Given the description of an element on the screen output the (x, y) to click on. 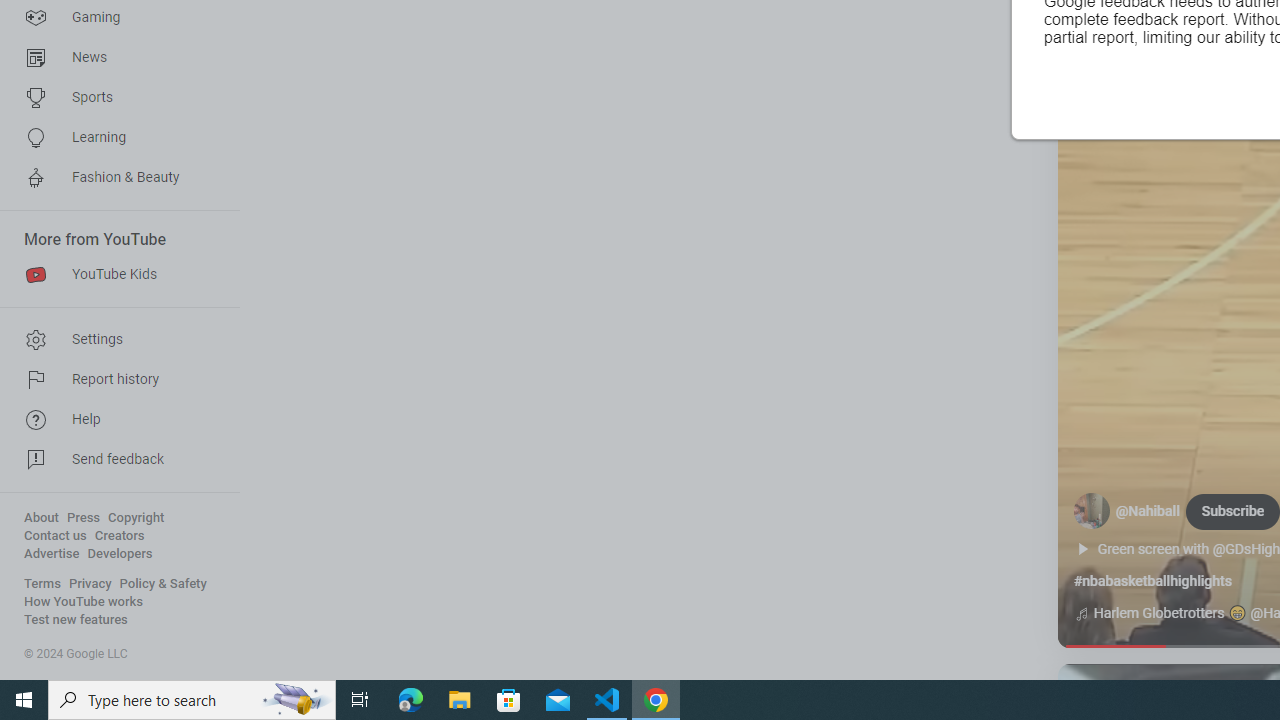
How YouTube works (83, 602)
Press (83, 518)
Send feedback (113, 459)
Creators (118, 536)
Report history (113, 380)
Developers (120, 554)
Copyright (136, 518)
Advertise (51, 554)
Sports (113, 97)
